Given the description of an element on the screen output the (x, y) to click on. 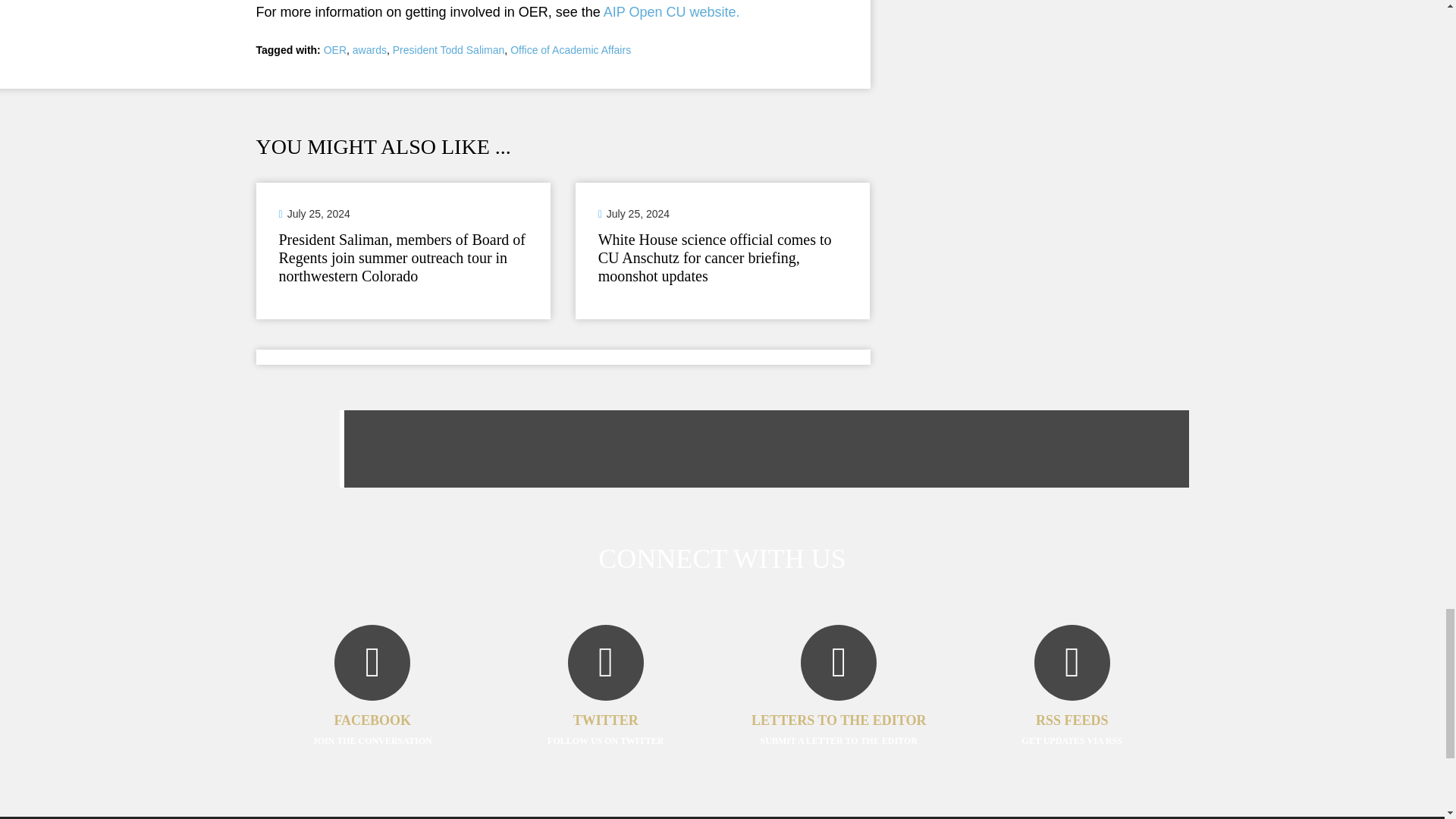
Join the Conversation (372, 707)
Submit a Letter to the Editor (838, 707)
Get Updates Via RSS (1072, 707)
Follow us on Twitter (605, 707)
